Given the description of an element on the screen output the (x, y) to click on. 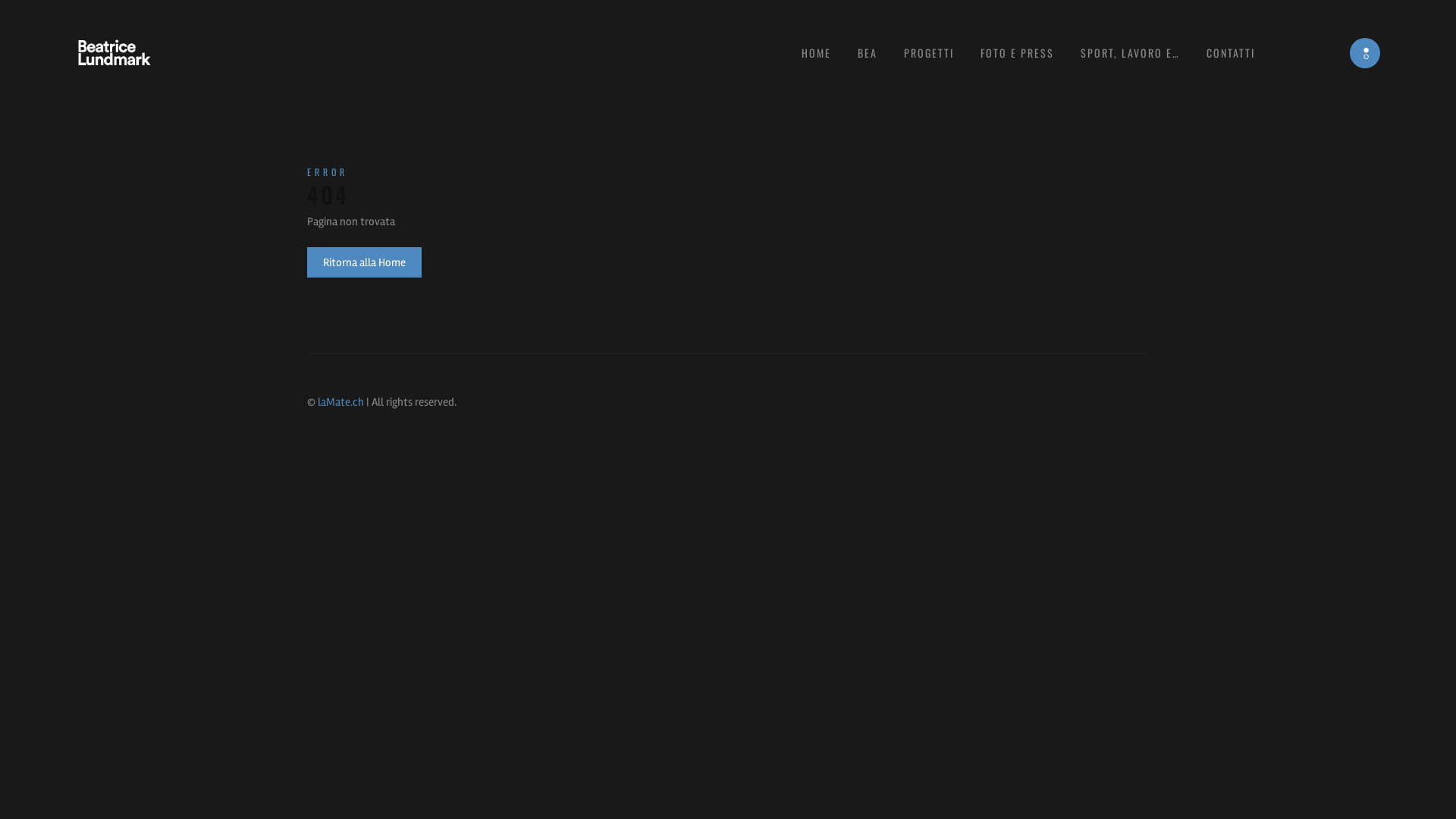
HOME Element type: text (816, 52)
Ritorna alla Home Element type: text (364, 262)
BEA Element type: text (867, 52)
Toggle navigation Element type: text (1364, 52)
laMate.ch Element type: text (340, 401)
CONTATTI Element type: text (1230, 52)
PROGETTI Element type: text (928, 52)
FOTO E PRESS Element type: text (1017, 52)
